Given the description of an element on the screen output the (x, y) to click on. 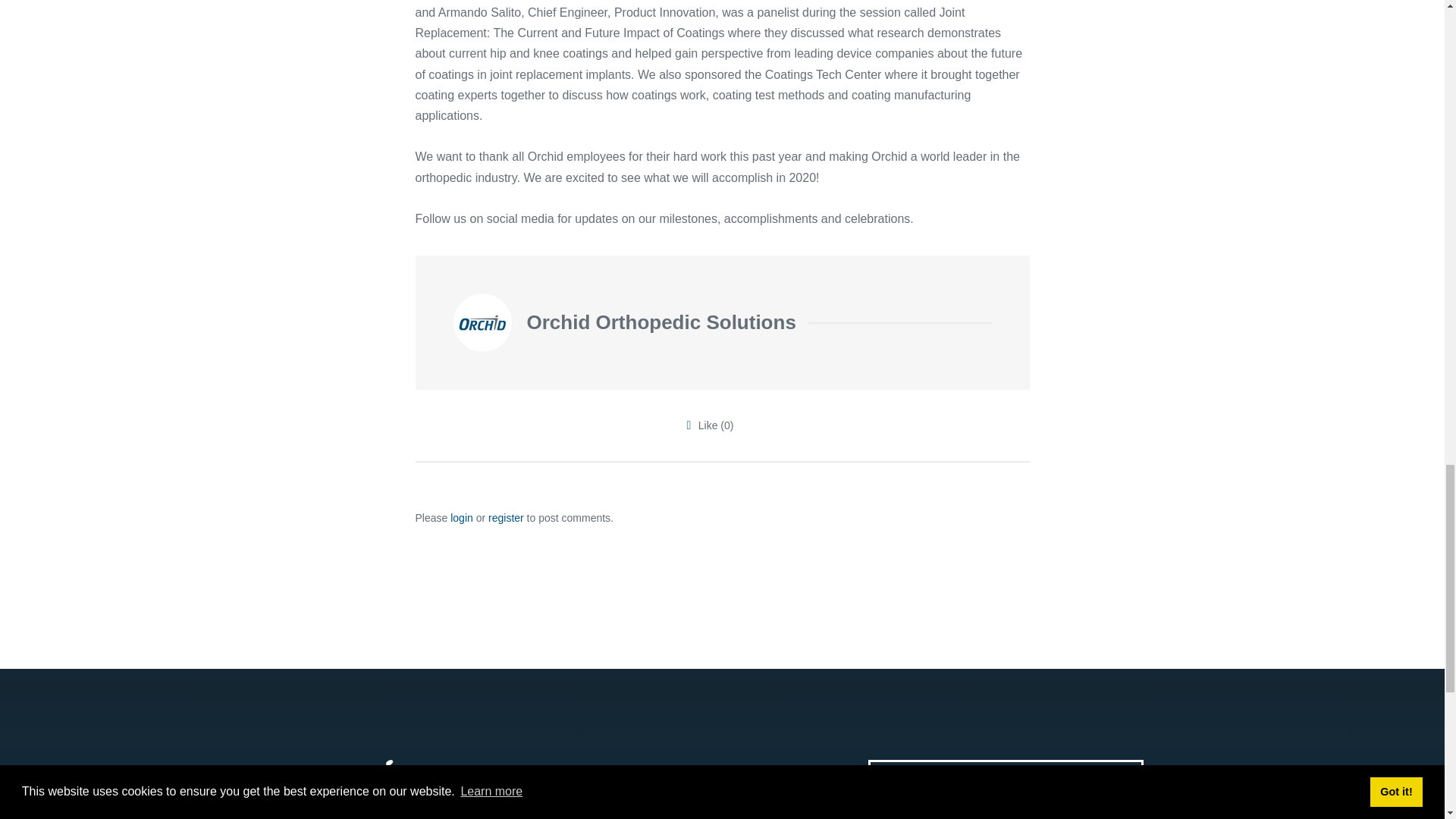
Orchid (355, 777)
